Given the description of an element on the screen output the (x, y) to click on. 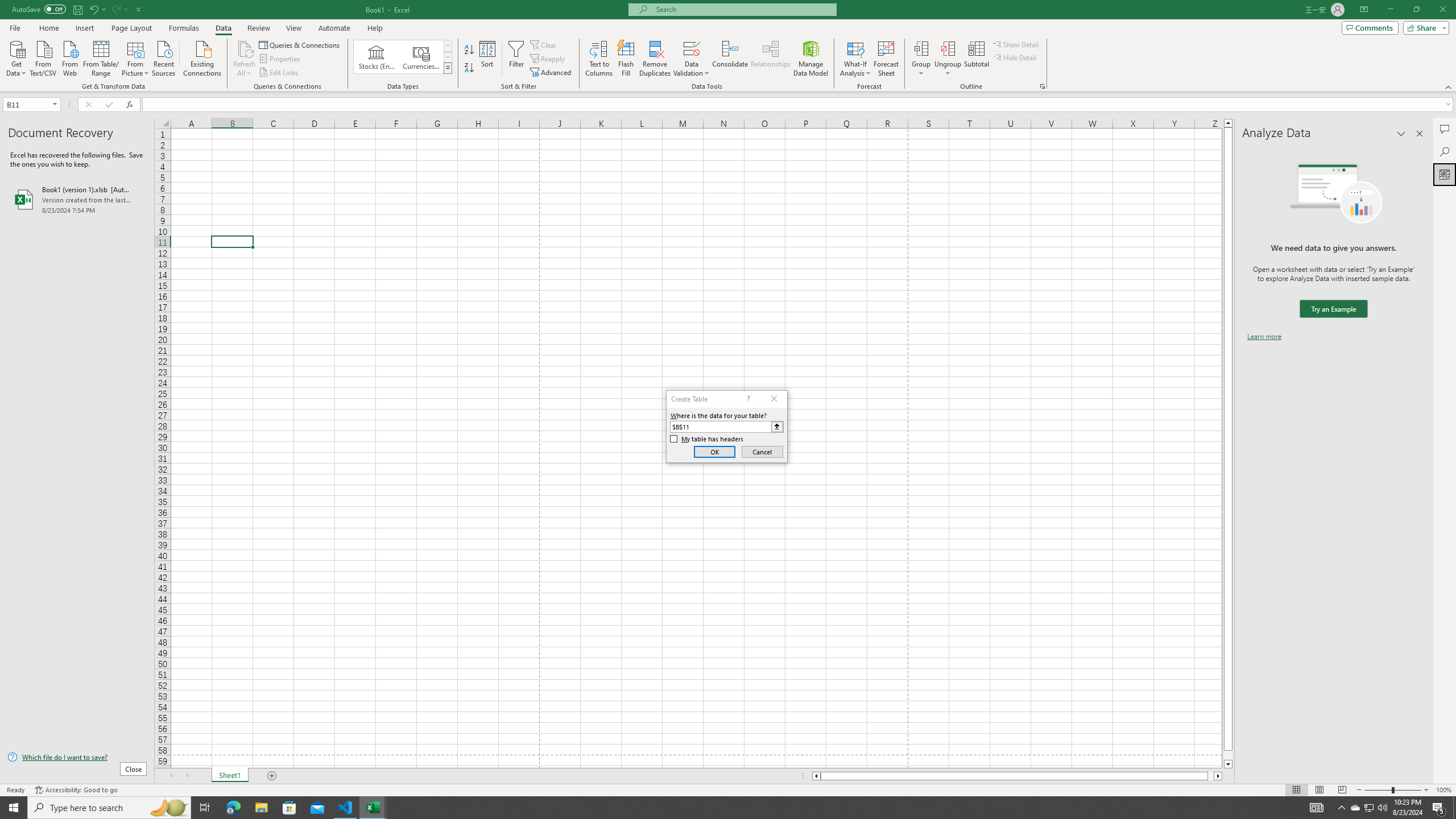
We need data to give you answers. Try an Example (1333, 308)
